Given the description of an element on the screen output the (x, y) to click on. 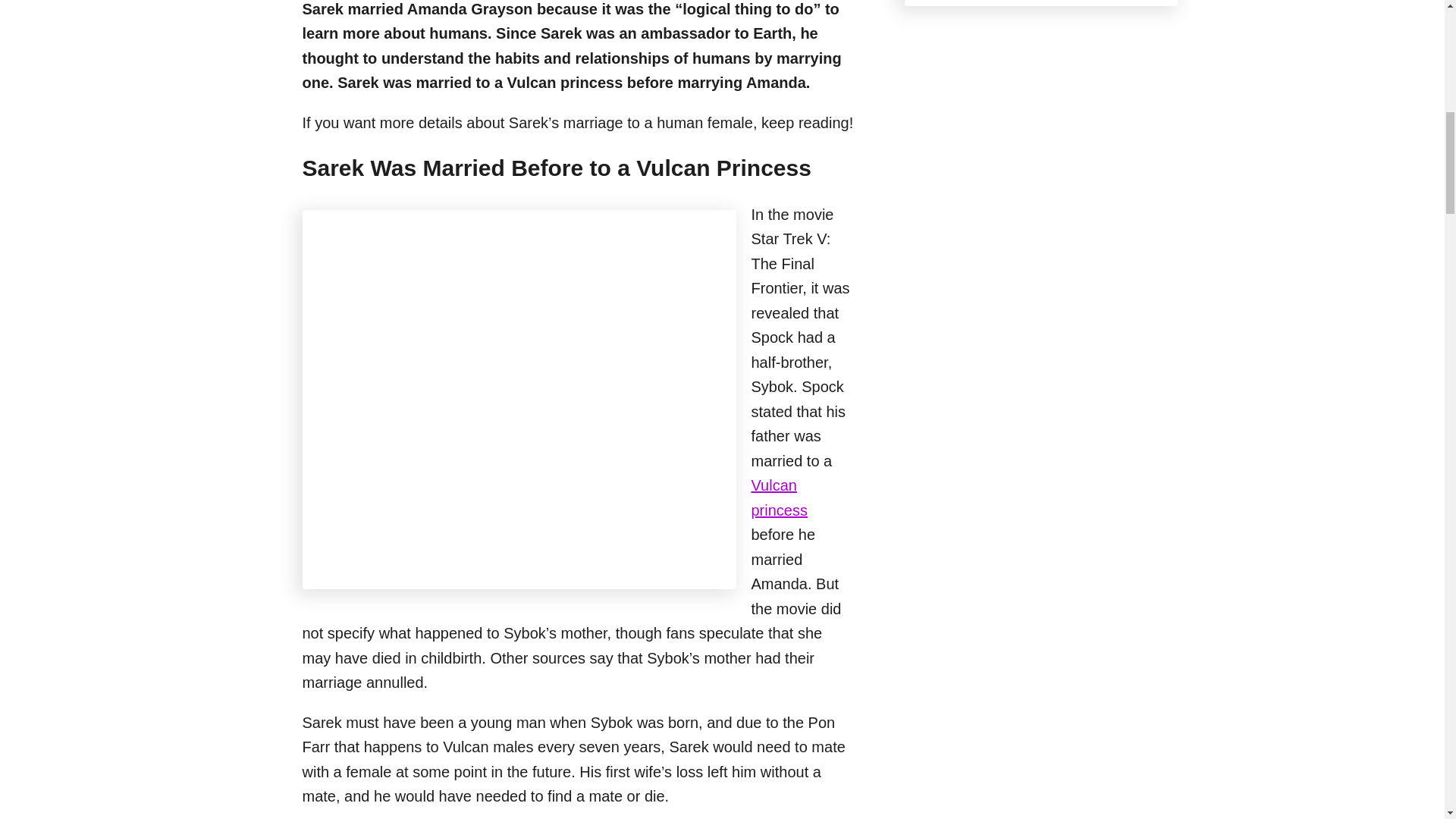
Vulcan princess (778, 497)
